Given the description of an element on the screen output the (x, y) to click on. 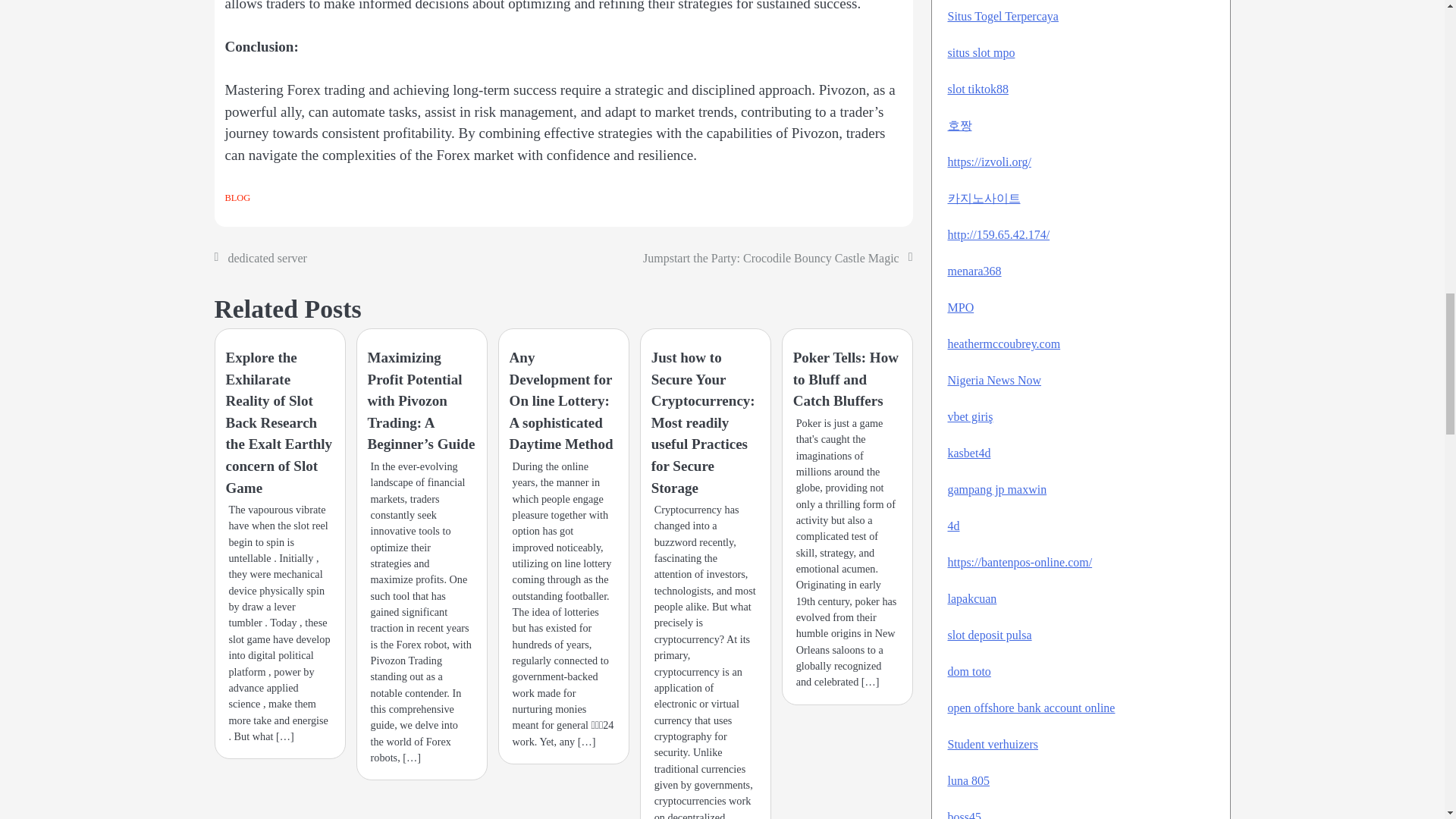
Jumpstart the Party: Crocodile Bouncy Castle Magic (771, 257)
Poker Tells: How to Bluff and Catch Bluffers (845, 378)
BLOG (237, 197)
dedicated server (266, 257)
